Given the description of an element on the screen output the (x, y) to click on. 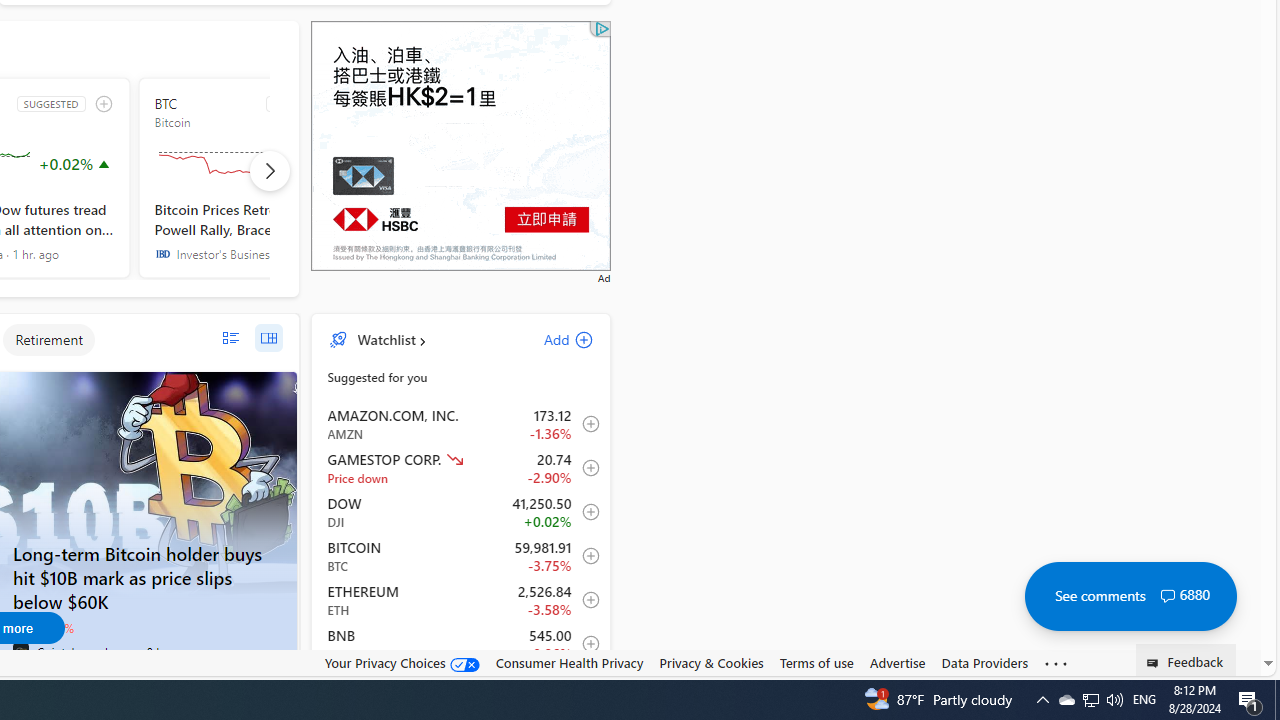
Privacy & Cookies (711, 662)
BTC SUGGESTED Bitcoin (258, 178)
Class: oneFooter_seeMore-DS-EntryPoint1-1 (1055, 663)
Add (551, 339)
Advertisement (459, 145)
INX S&P 500 increase 5,625.80 +8.96 +0.16% item6 (461, 687)
Retirement (48, 339)
Advertise (897, 663)
Watchlist (386, 339)
Advertisement (459, 145)
Data Providers (983, 663)
BTC Bitcoin decrease 59,981.91 -2,246.92 -3.75% item3 (461, 556)
AMZN AMAZON.COM, INC. decrease 173.12 -2.38 -1.36% item0 (461, 423)
